Given the description of an element on the screen output the (x, y) to click on. 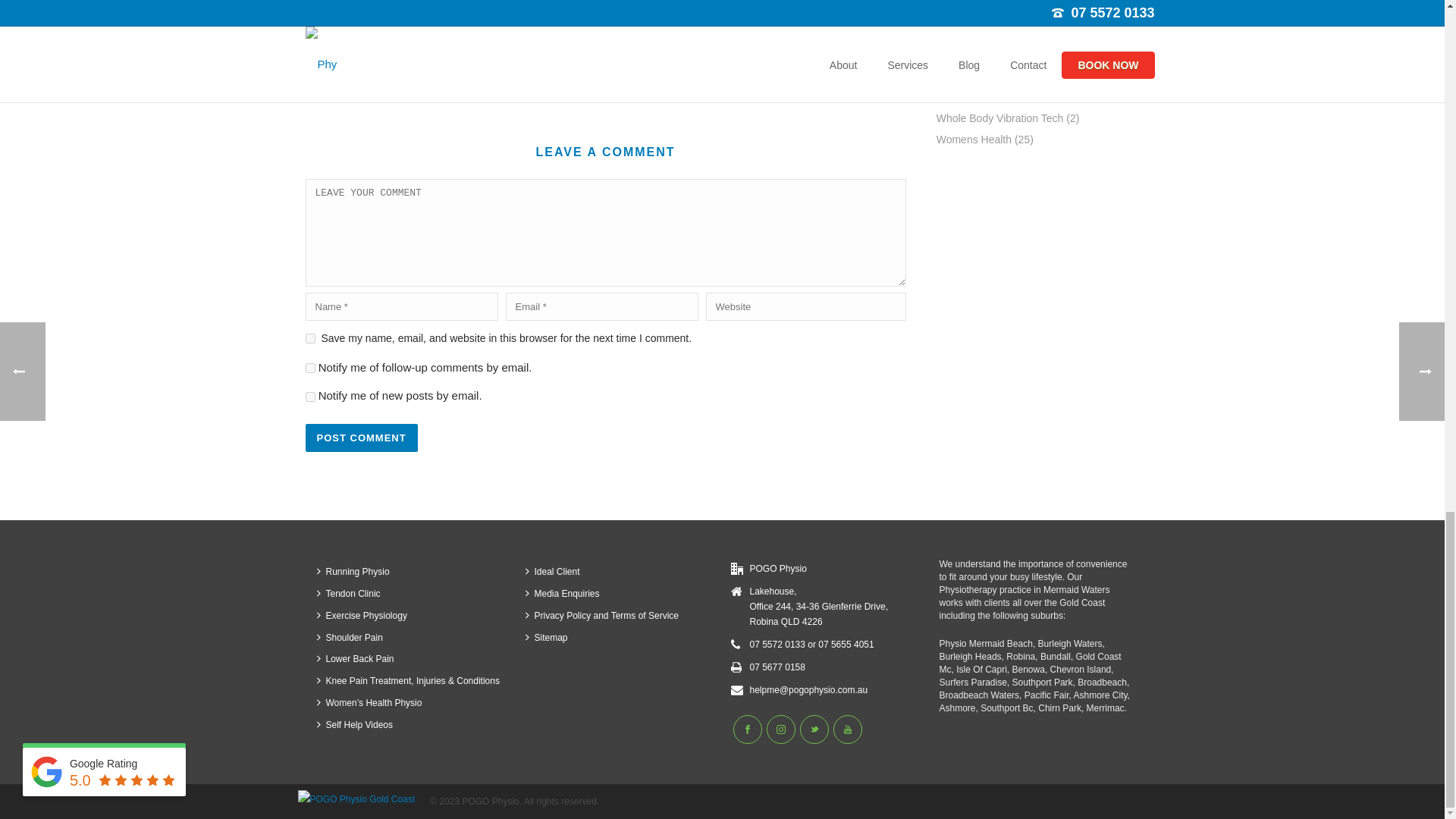
Follow Us on instagram (779, 728)
subscribe (309, 368)
Follow Us on facebook (746, 728)
Follow Us on twitter (813, 728)
POST COMMENT (360, 438)
subscribe (309, 397)
yes (309, 338)
